Given the description of an element on the screen output the (x, y) to click on. 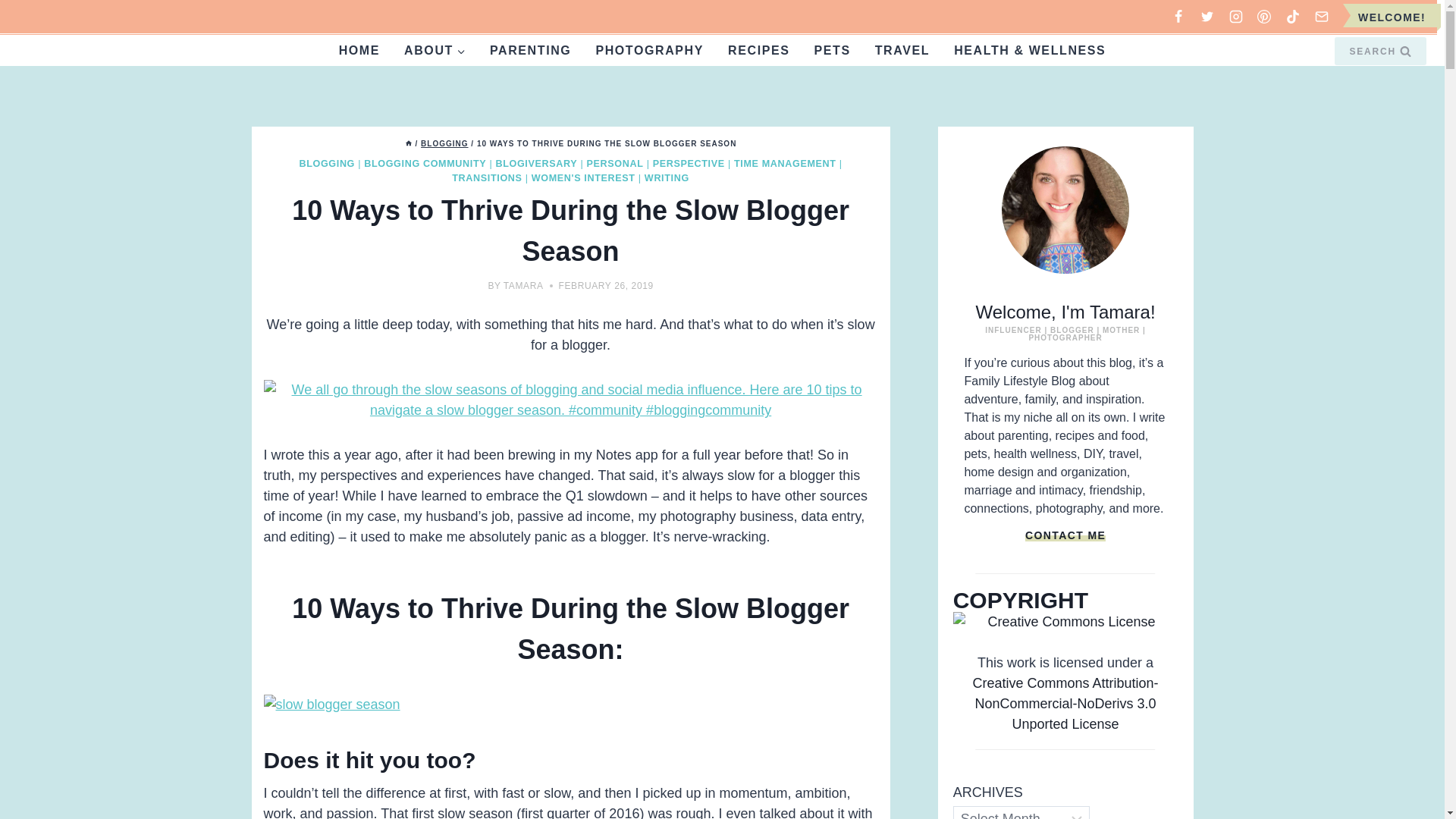
WELCOME! (1391, 17)
PHOTOGRAPHY (649, 49)
HOME (358, 49)
BLOGGING COMMUNITY (425, 163)
SEARCH (1380, 50)
TIME MANAGEMENT (784, 163)
BLOGGING (326, 163)
PERSPECTIVE (688, 163)
WOMEN'S INTEREST (582, 177)
WRITING (666, 177)
